Given the description of an element on the screen output the (x, y) to click on. 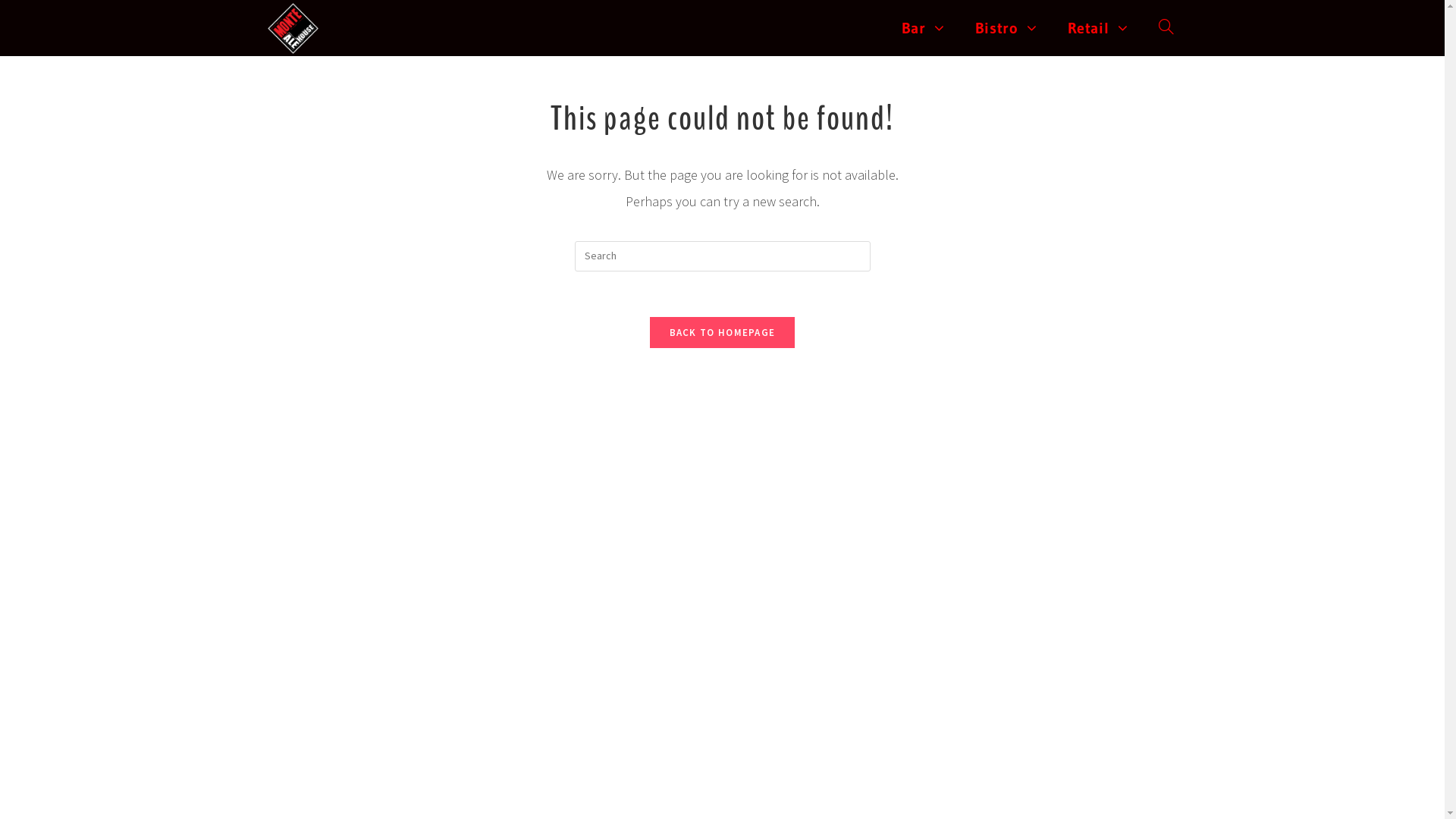
Bistro Element type: text (1006, 28)
Bar Element type: text (923, 28)
Retail Element type: text (1097, 28)
BACK TO HOMEPAGE Element type: text (722, 332)
